Given the description of an element on the screen output the (x, y) to click on. 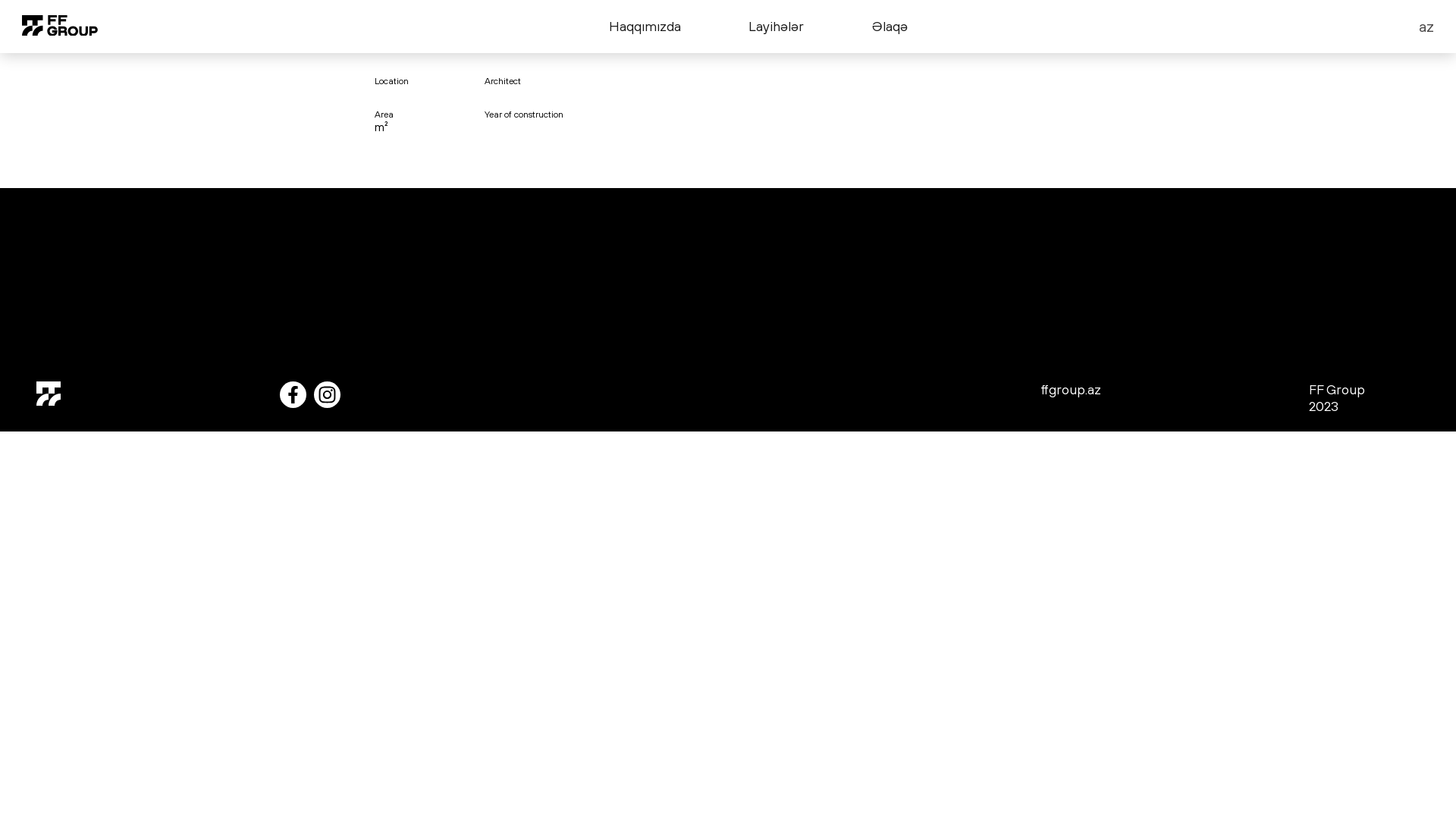
ffgroup.az Element type: text (1070, 391)
